Given the description of an element on the screen output the (x, y) to click on. 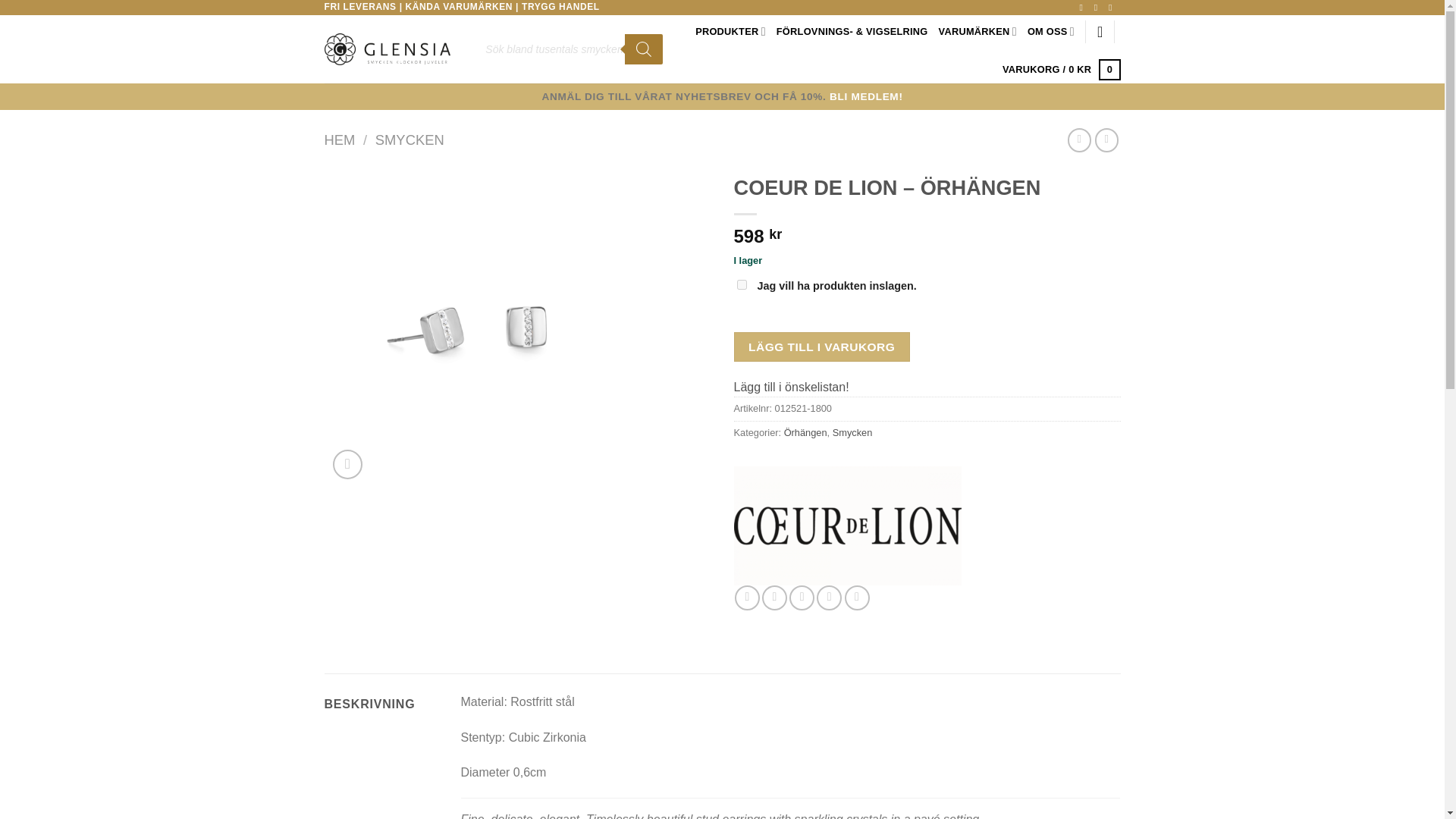
1 (741, 284)
PRODUKTER (730, 30)
Varukorg (1062, 69)
Zooma (347, 464)
COEUR DE LION (846, 525)
